Given the description of an element on the screen output the (x, y) to click on. 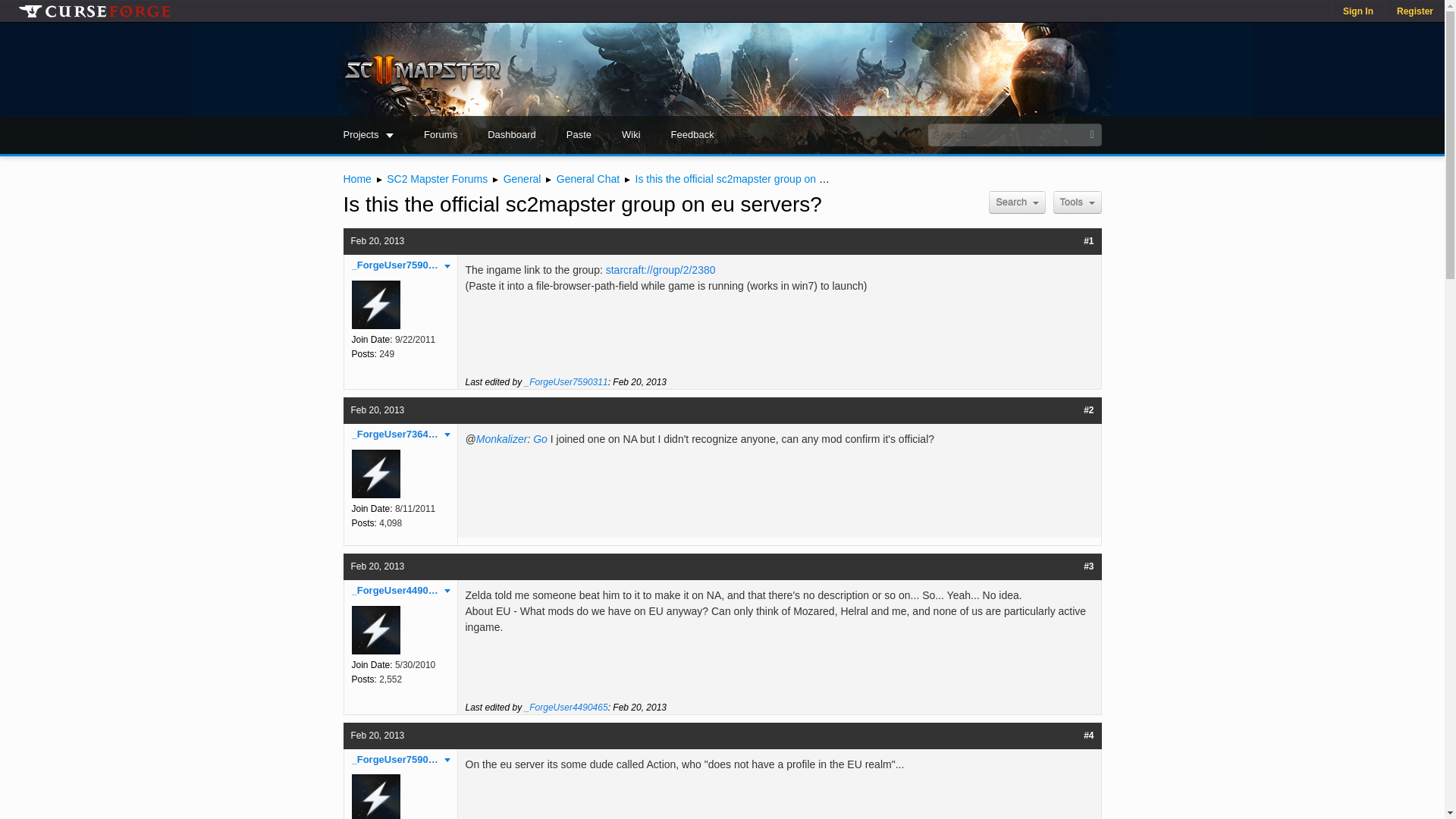
Search (1016, 201)
Tools (1077, 201)
Wiki (631, 134)
Feedback (692, 134)
Sign In (1357, 11)
Projects (368, 134)
General Chat (588, 178)
Dashboard (511, 134)
Is this the official sc2mapster group on eu servers? (754, 178)
CurseForge (94, 11)
SC2 Mapster Forums (437, 178)
General (522, 178)
Forums (440, 134)
Home (356, 178)
Paste (579, 134)
